Given the description of an element on the screen output the (x, y) to click on. 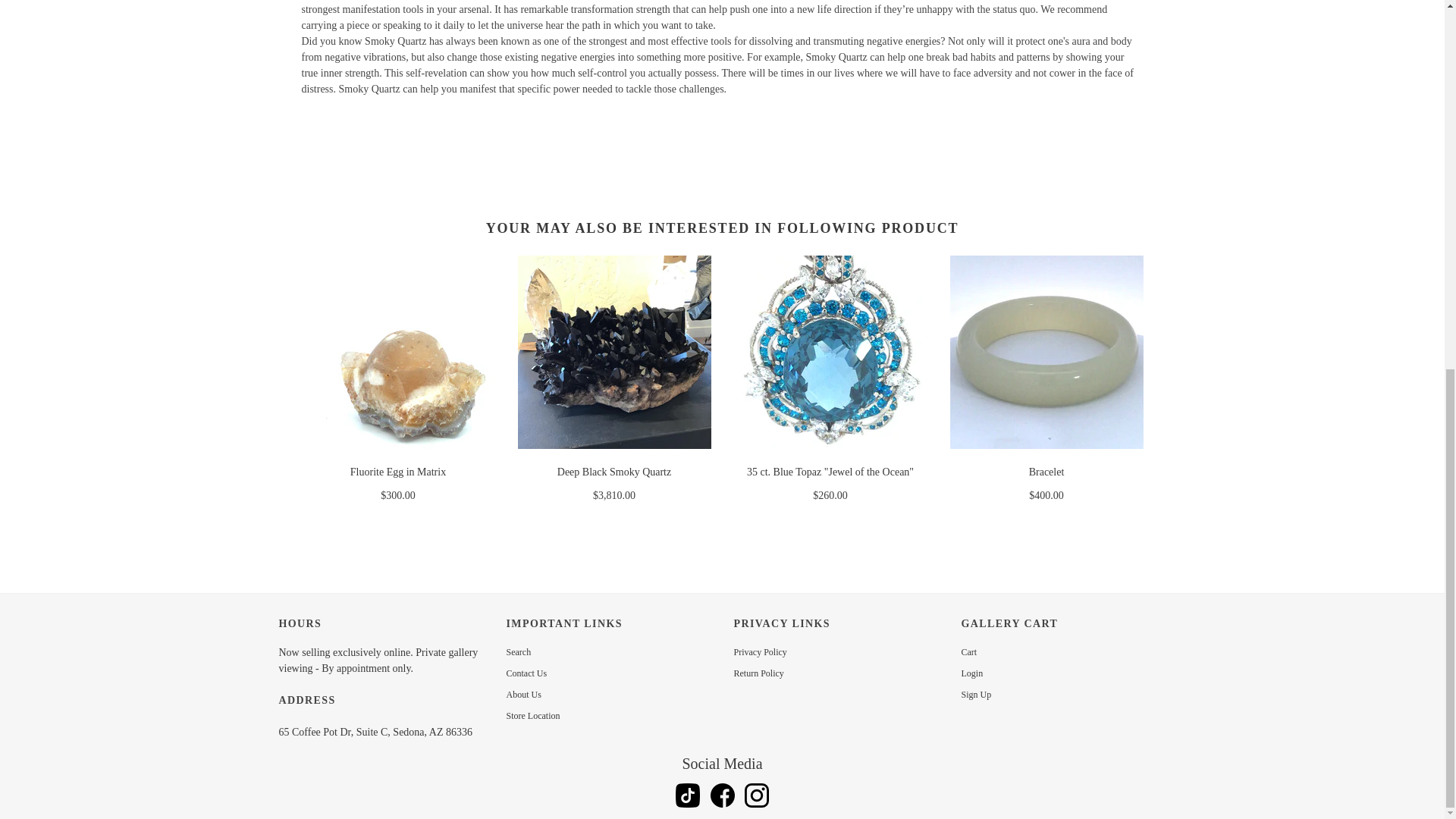
35 ct. Blue Topaz "Jewel of the Ocean" (830, 471)
Fluorite Egg in Matrix (397, 471)
Deep Black Smoky Quartz (614, 471)
Bracelet (1046, 471)
Contact Us (526, 673)
Search (518, 652)
